Given the description of an element on the screen output the (x, y) to click on. 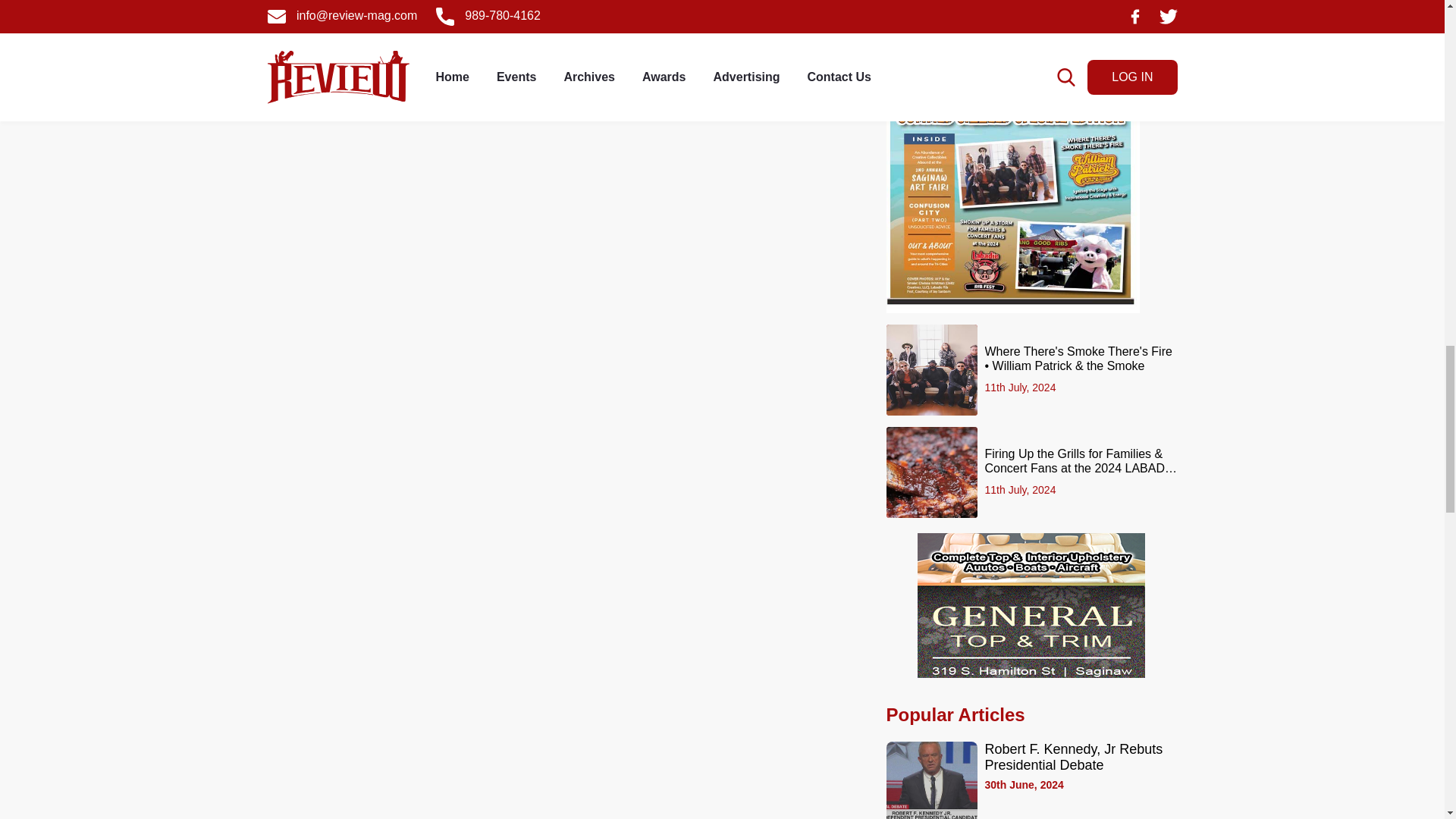
Login to comment (810, 66)
